Given the description of an element on the screen output the (x, y) to click on. 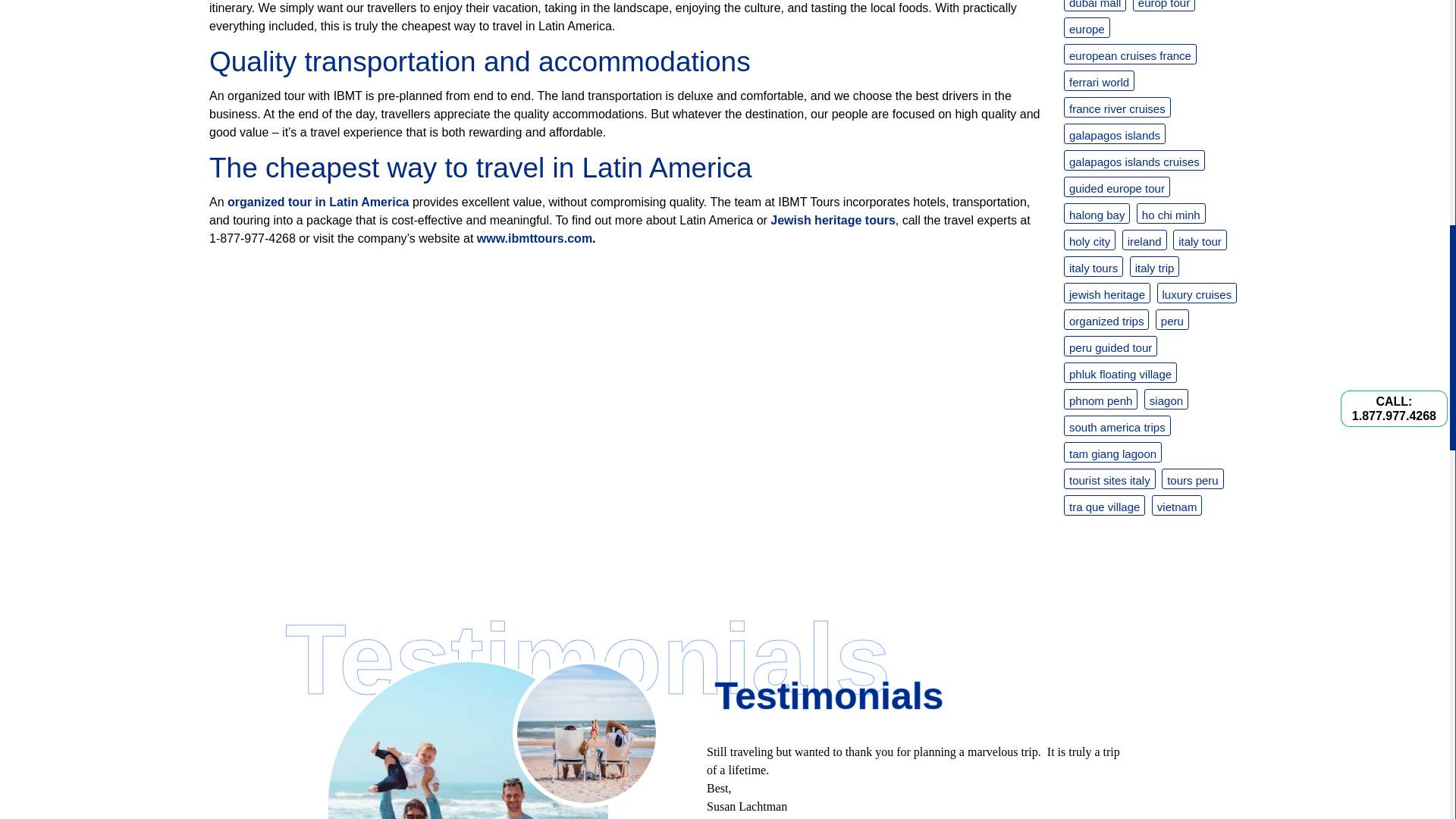
Jewish heritage tours (832, 219)
www.ibmttours.com (534, 237)
organized tour in Latin America (318, 201)
